Given the description of an element on the screen output the (x, y) to click on. 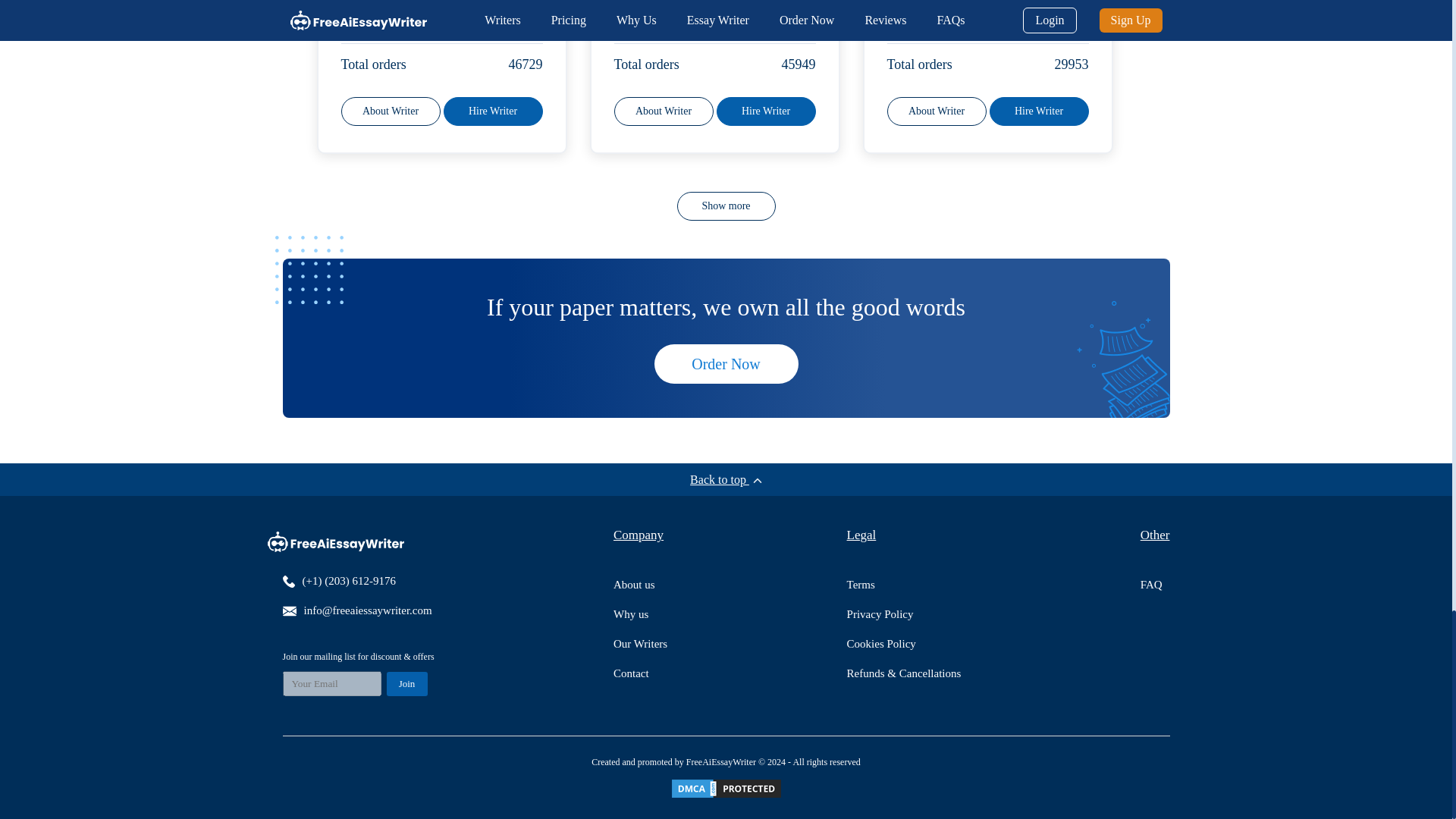
DMCA.com Protection Status (725, 788)
